Given the description of an element on the screen output the (x, y) to click on. 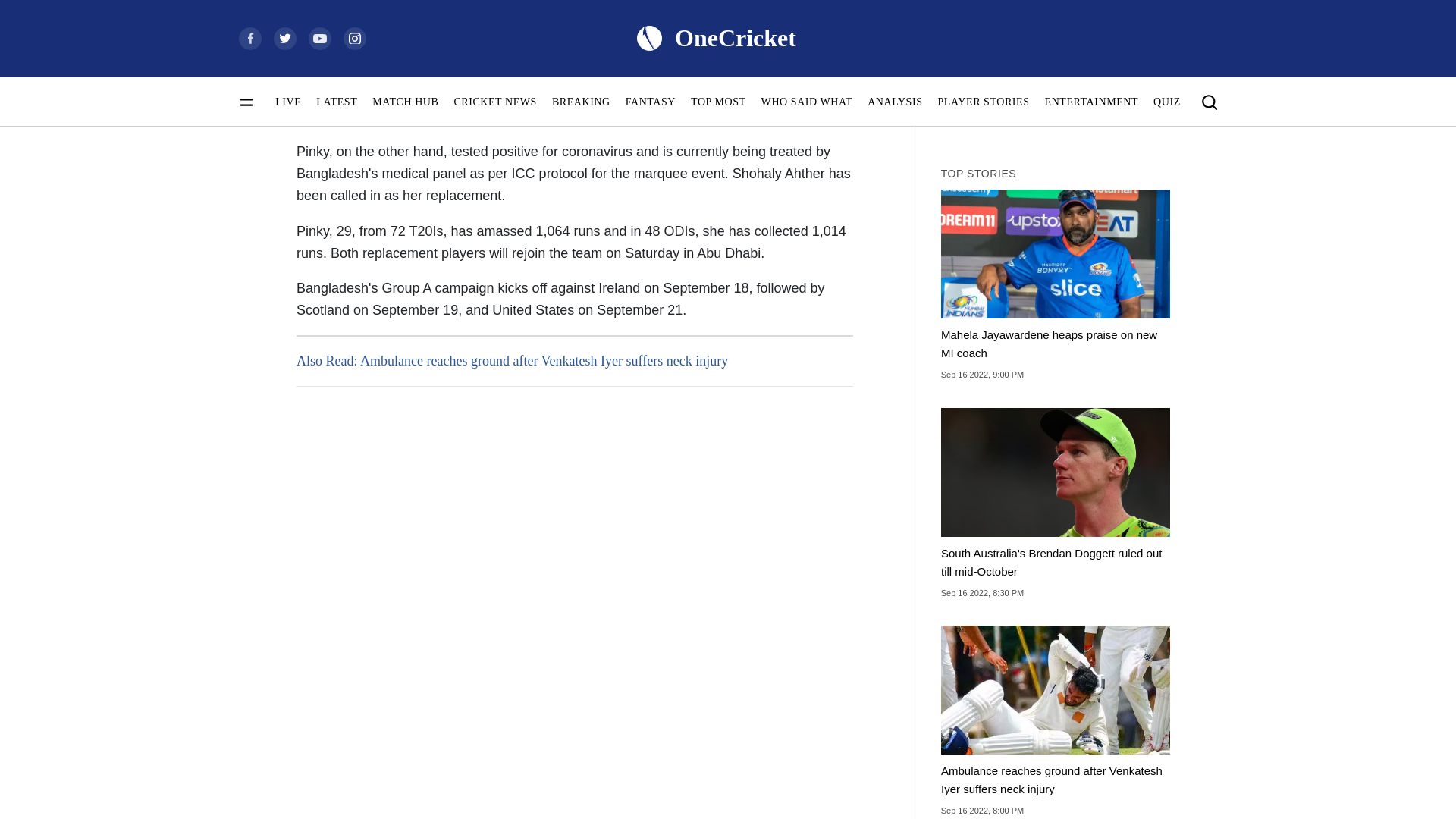
share on facebook (972, 101)
share on twitter (1039, 101)
South Australia's Brendan Doggett ruled out till mid-October (1055, 472)
Mahela Jayawardene heaps praise on new MI coach (1055, 253)
South Australia's Brendan Doggett ruled out till mid-October (1055, 503)
Mahela Jayawardene heaps praise on new MI coach (1055, 285)
share link (1107, 101)
